Given the description of an element on the screen output the (x, y) to click on. 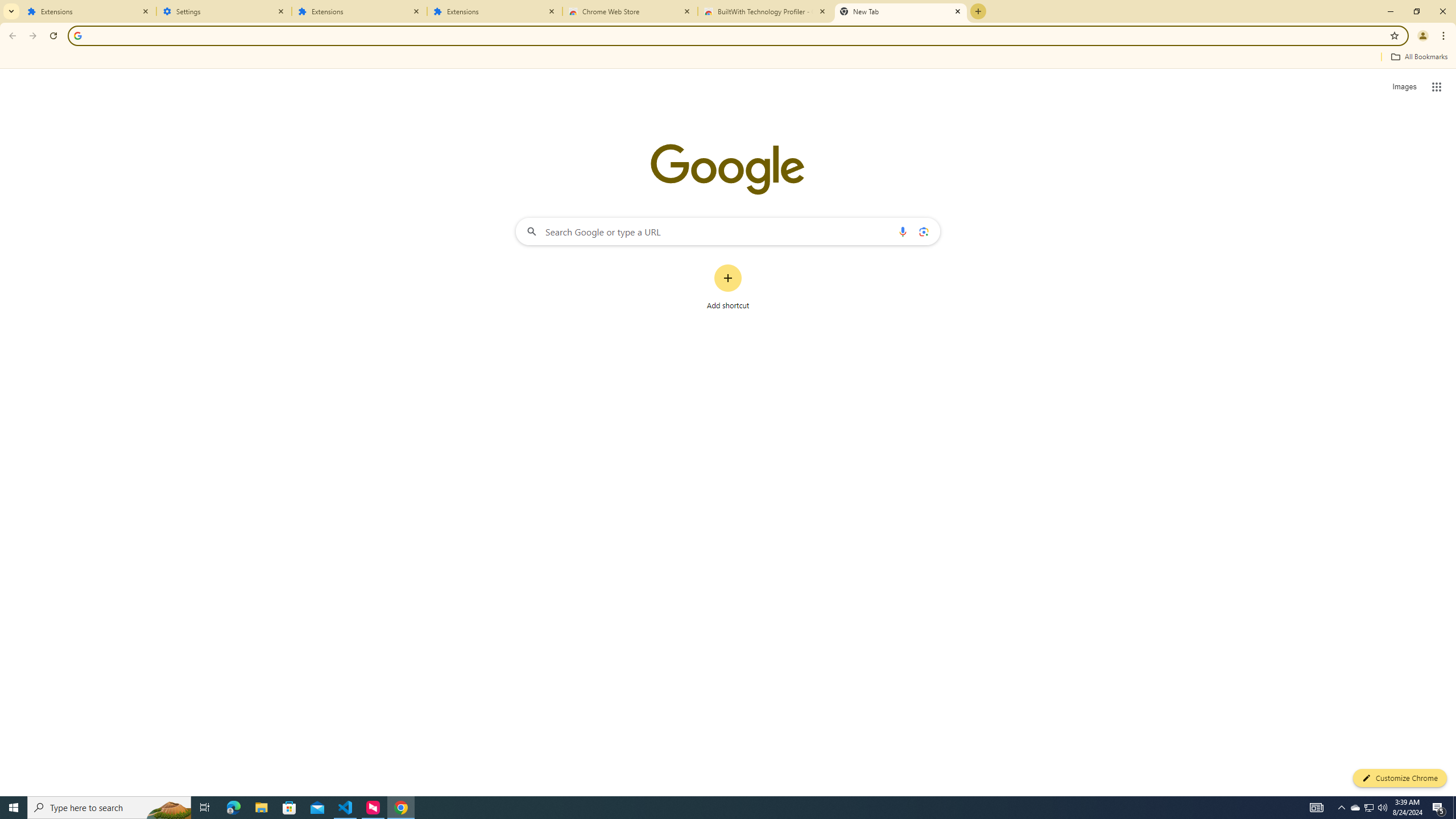
Add shortcut (727, 287)
Extensions (494, 11)
Chrome Web Store (630, 11)
Settings (224, 11)
